Given the description of an element on the screen output the (x, y) to click on. 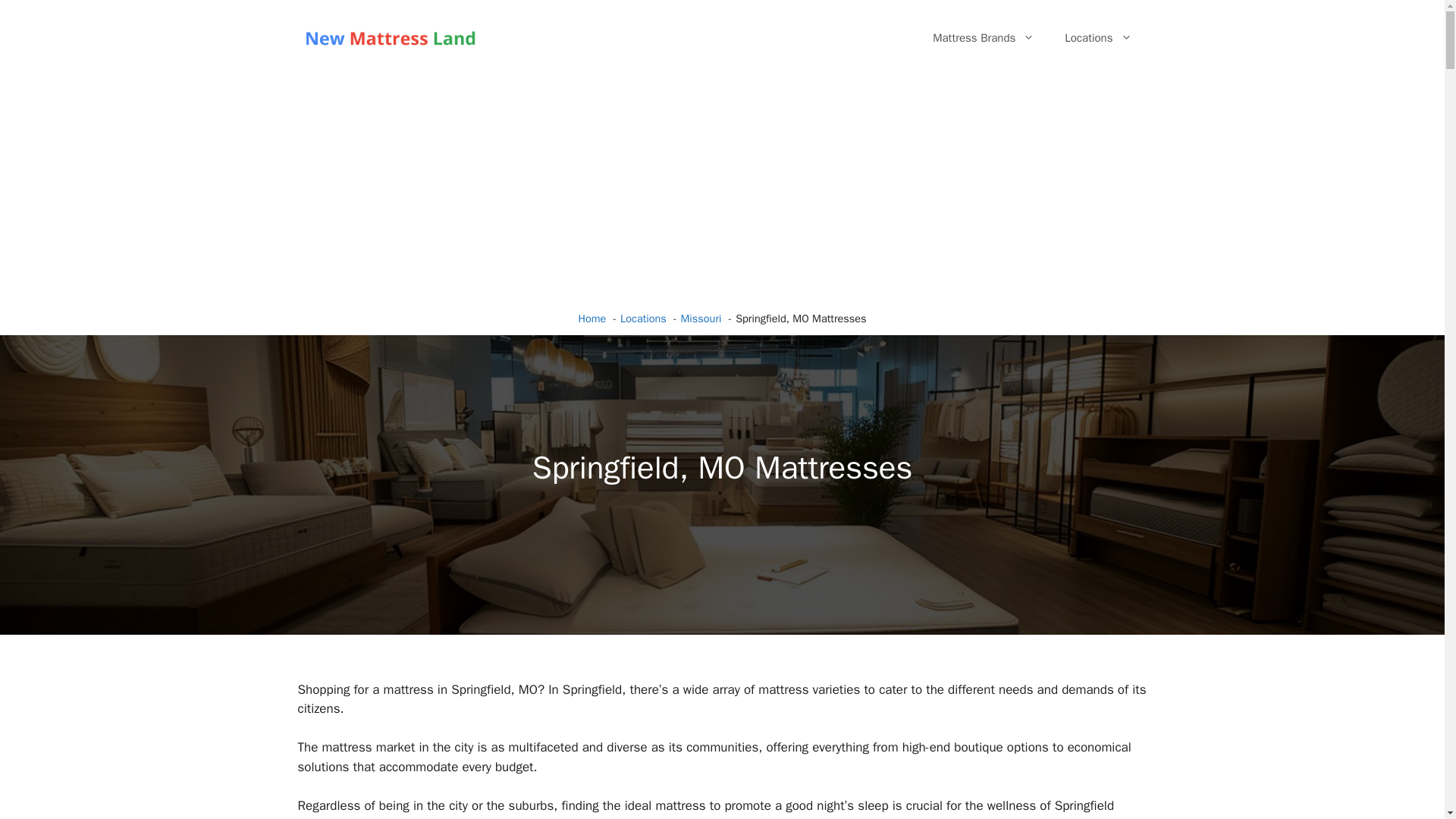
Mattress Brands (983, 37)
Locations (1098, 37)
